Given the description of an element on the screen output the (x, y) to click on. 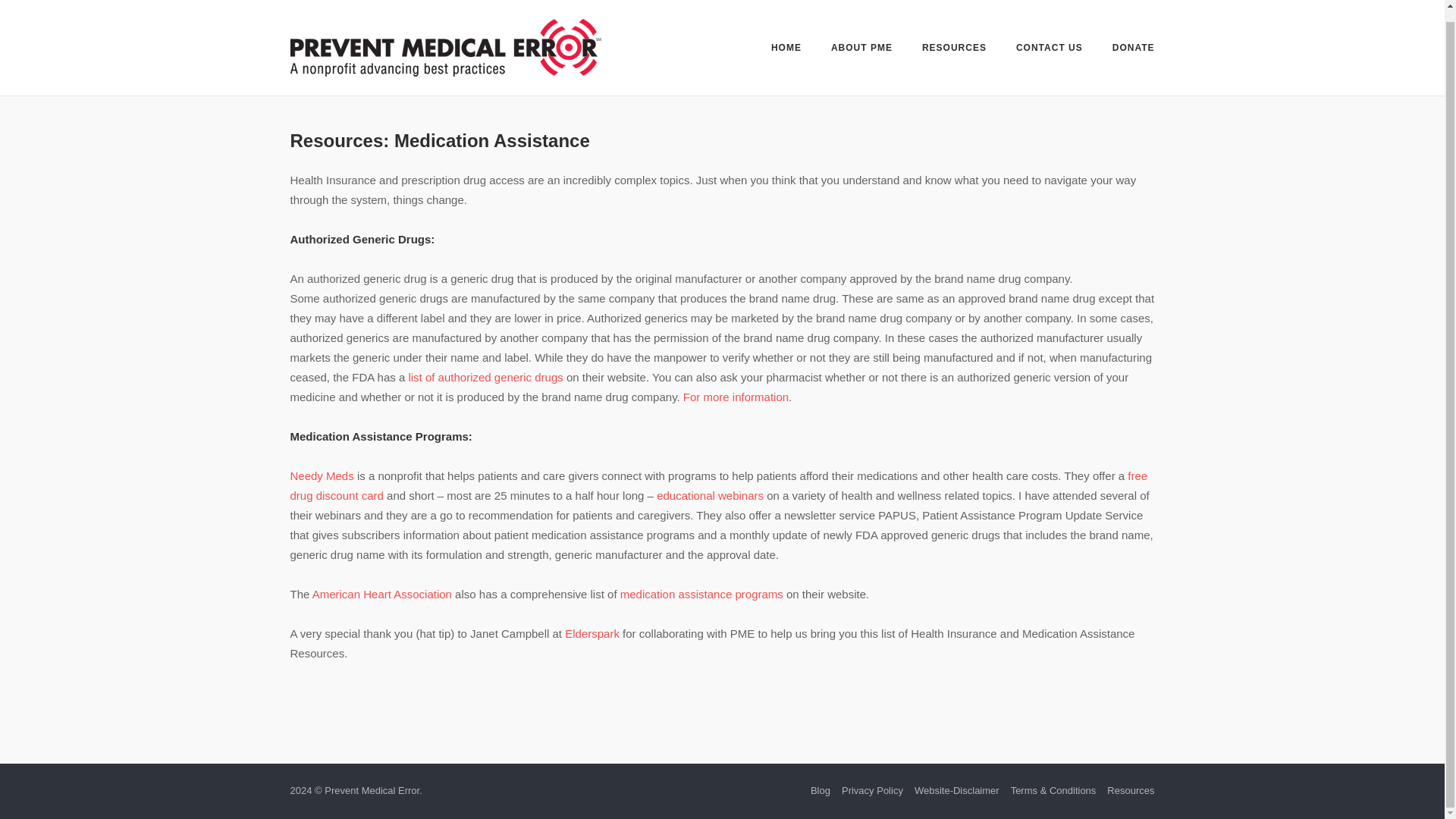
Needy Meds (321, 475)
list of authorized generic drugs (484, 377)
Privacy Policy (871, 790)
Website-Disclaimer (956, 790)
HOME (786, 38)
free drug discount card (718, 485)
For more information (735, 396)
RESOURCES (954, 38)
Resources (1130, 790)
medication assistance programs (703, 594)
